Given the description of an element on the screen output the (x, y) to click on. 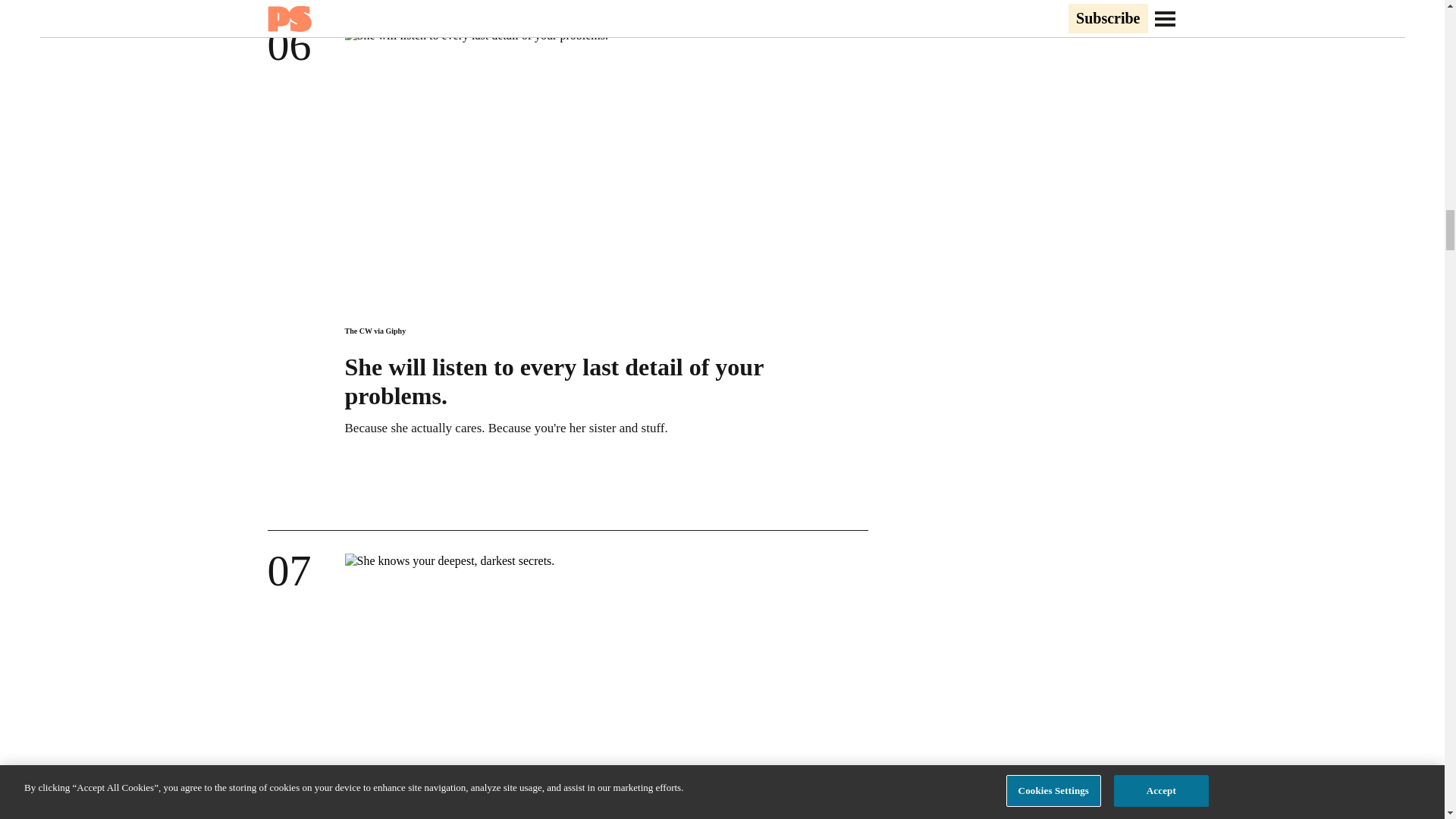
The CW via Giphy (374, 330)
